Given the description of an element on the screen output the (x, y) to click on. 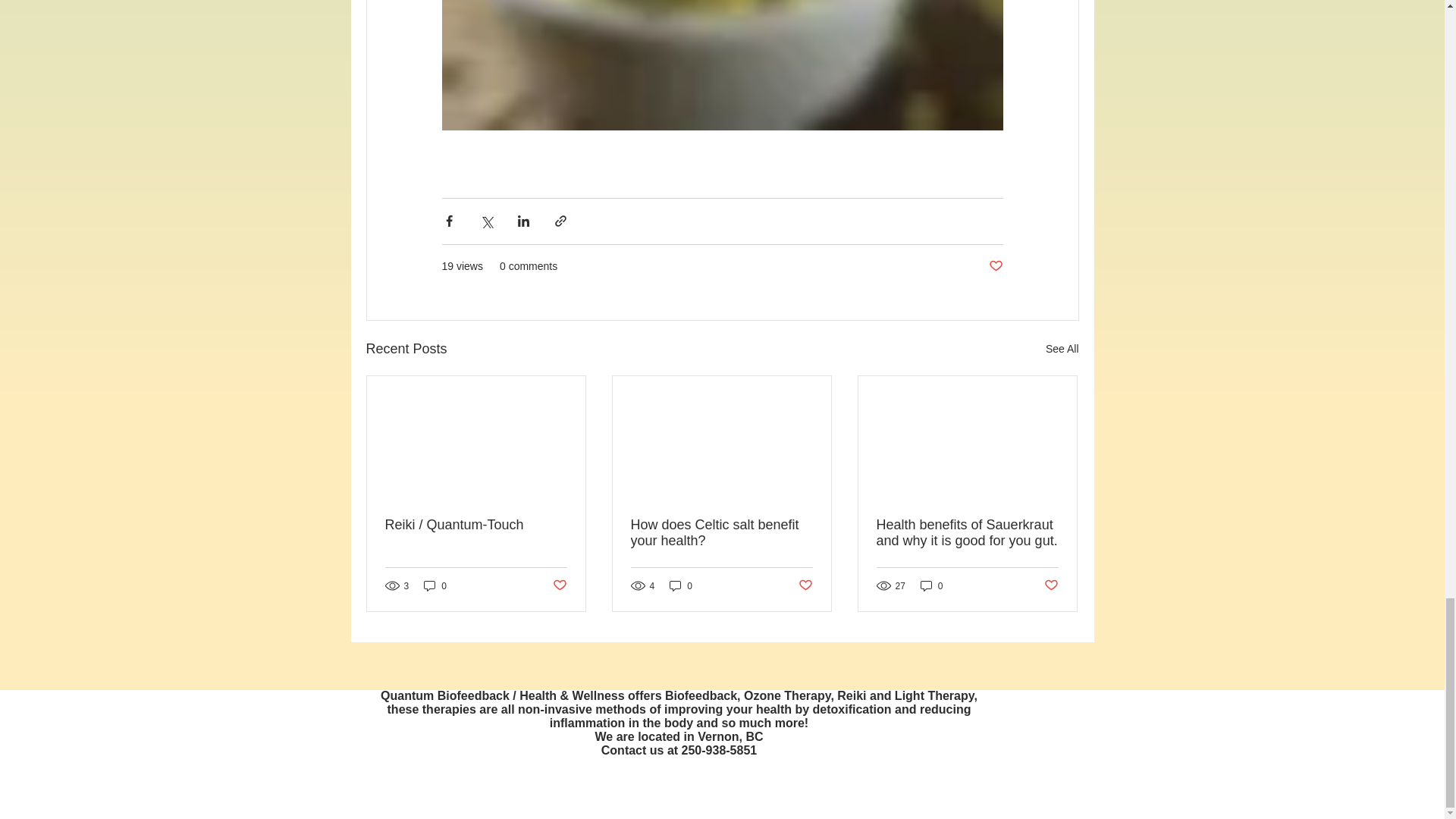
0 (931, 585)
Post not marked as liked (1050, 585)
Post not marked as liked (558, 585)
Post not marked as liked (804, 585)
How does Celtic salt benefit your health? (721, 532)
See All (1061, 349)
Post not marked as liked (995, 266)
0 (681, 585)
0 (435, 585)
